Given the description of an element on the screen output the (x, y) to click on. 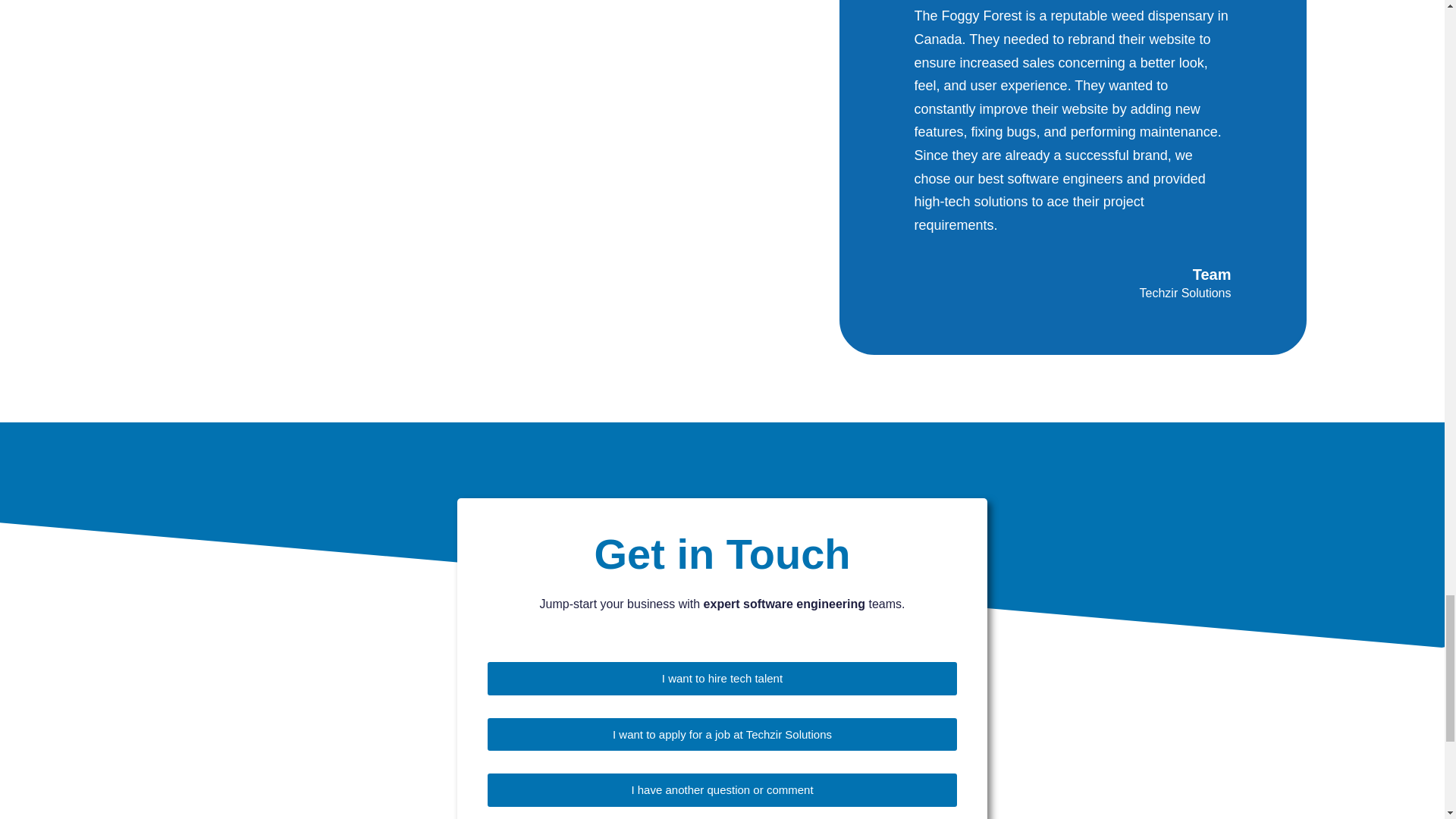
I have another question or comment (721, 789)
I want to hire tech talent (722, 677)
I want to apply for a job at Techzir Solutions (721, 734)
